Given the description of an element on the screen output the (x, y) to click on. 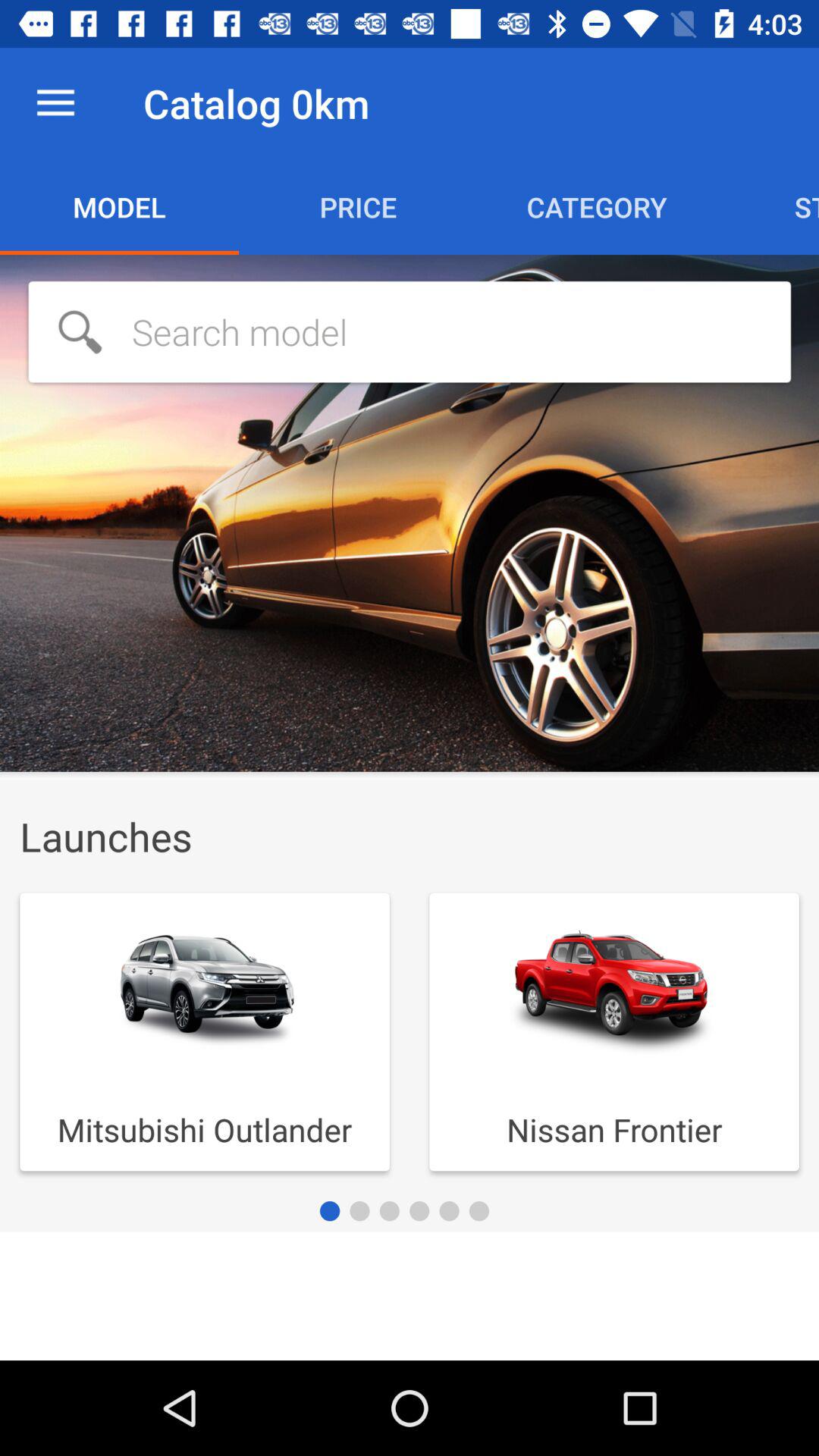
use in search (409, 331)
